Given the description of an element on the screen output the (x, y) to click on. 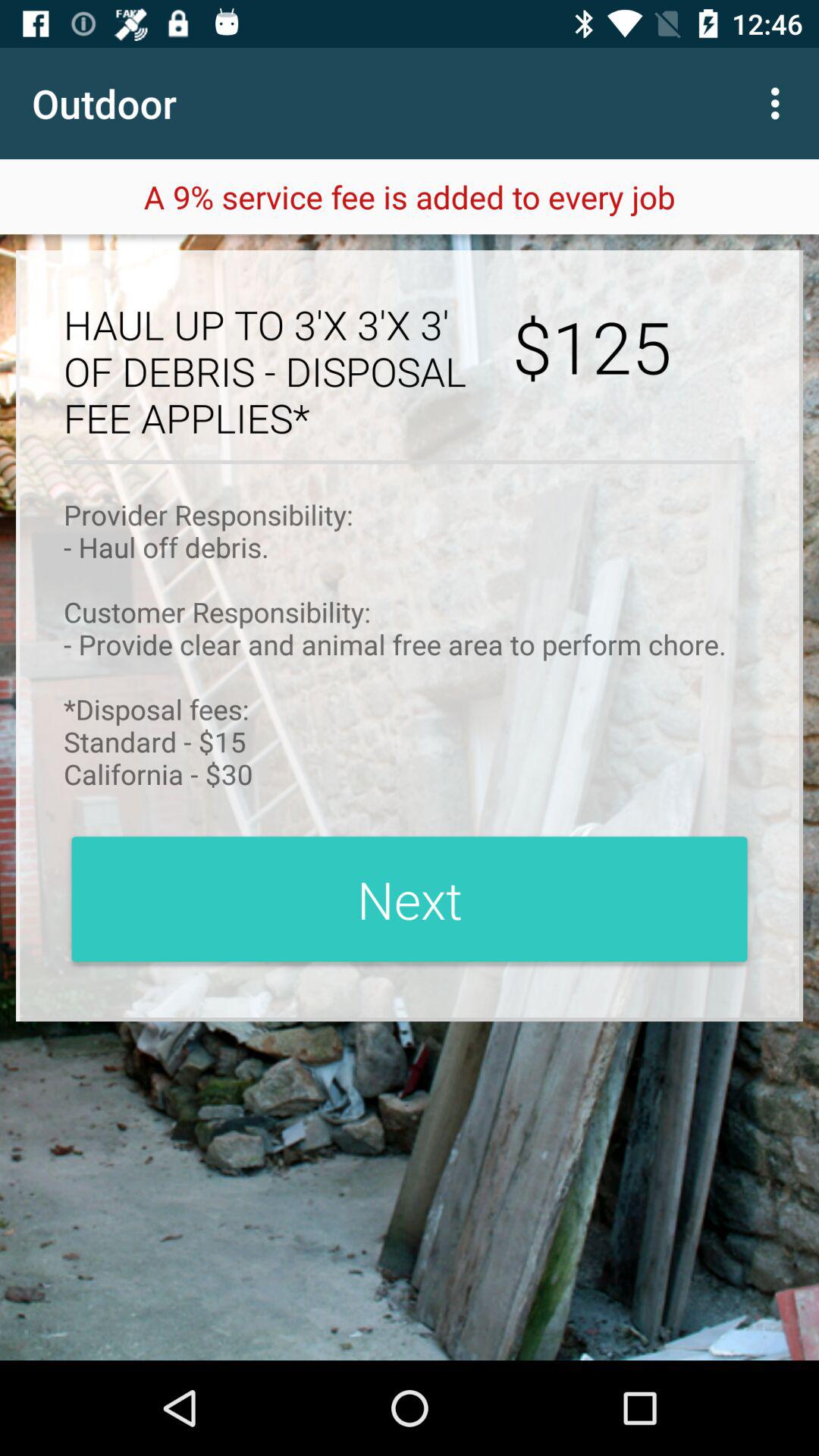
launch the icon to the right of the outdoor app (779, 103)
